Given the description of an element on the screen output the (x, y) to click on. 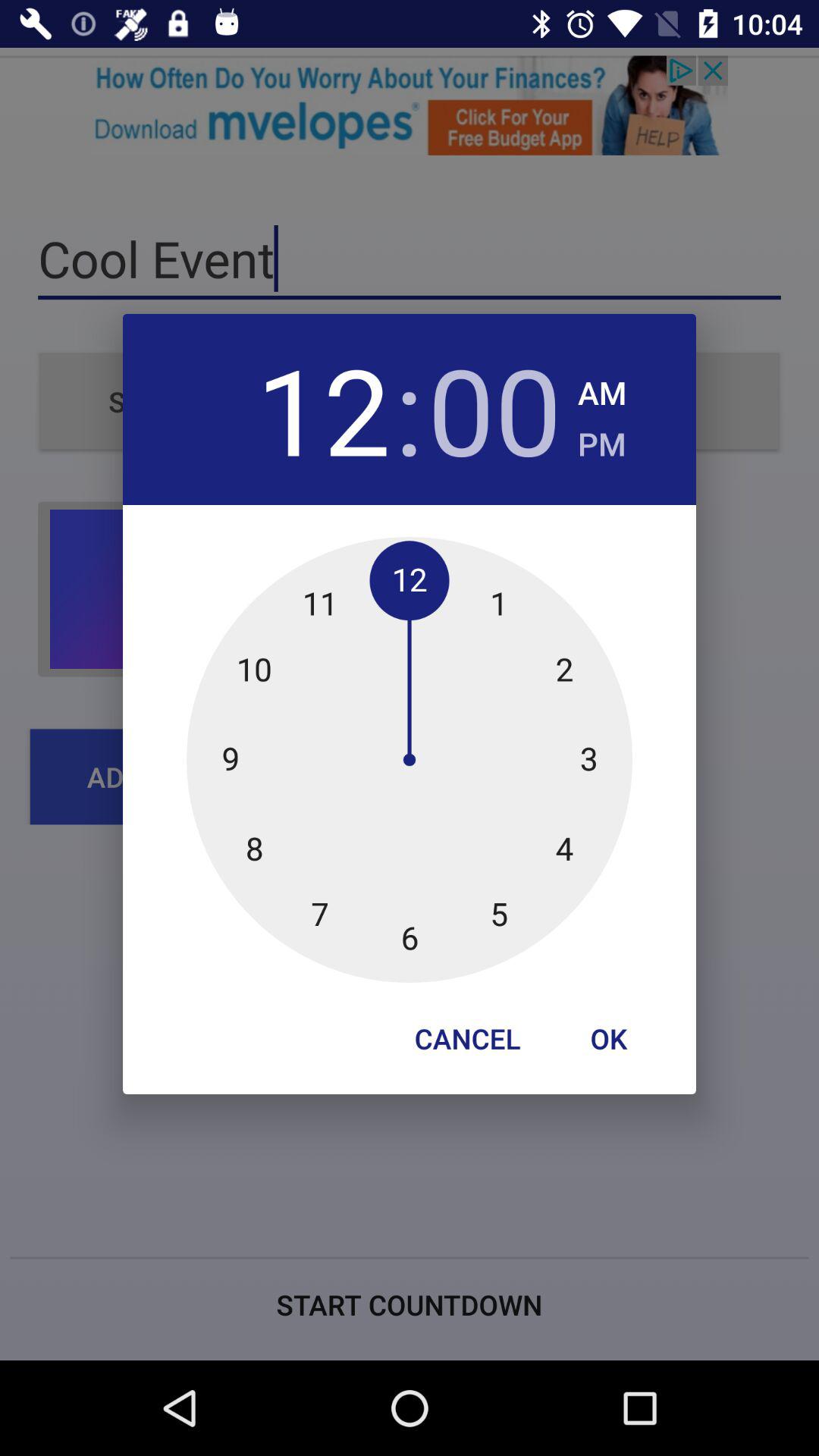
press the checkbox below the am (601, 439)
